Given the description of an element on the screen output the (x, y) to click on. 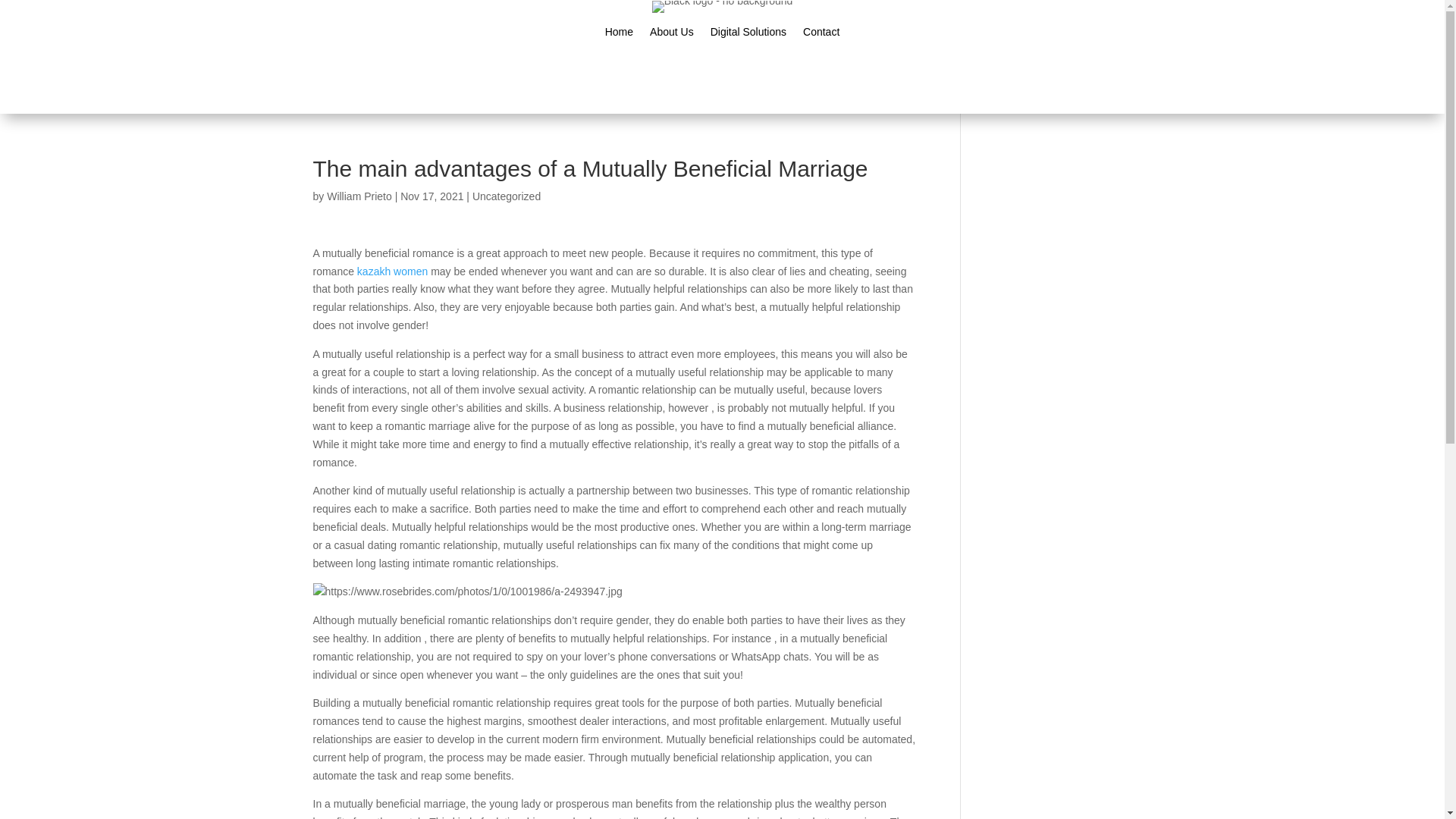
About Us (671, 34)
Black logo - no background (722, 6)
kazakh women (392, 271)
Posts by William Prieto (358, 196)
Home (619, 34)
Digital Solutions (748, 34)
William Prieto (358, 196)
Contact (821, 34)
Uncategorized (505, 196)
